Given the description of an element on the screen output the (x, y) to click on. 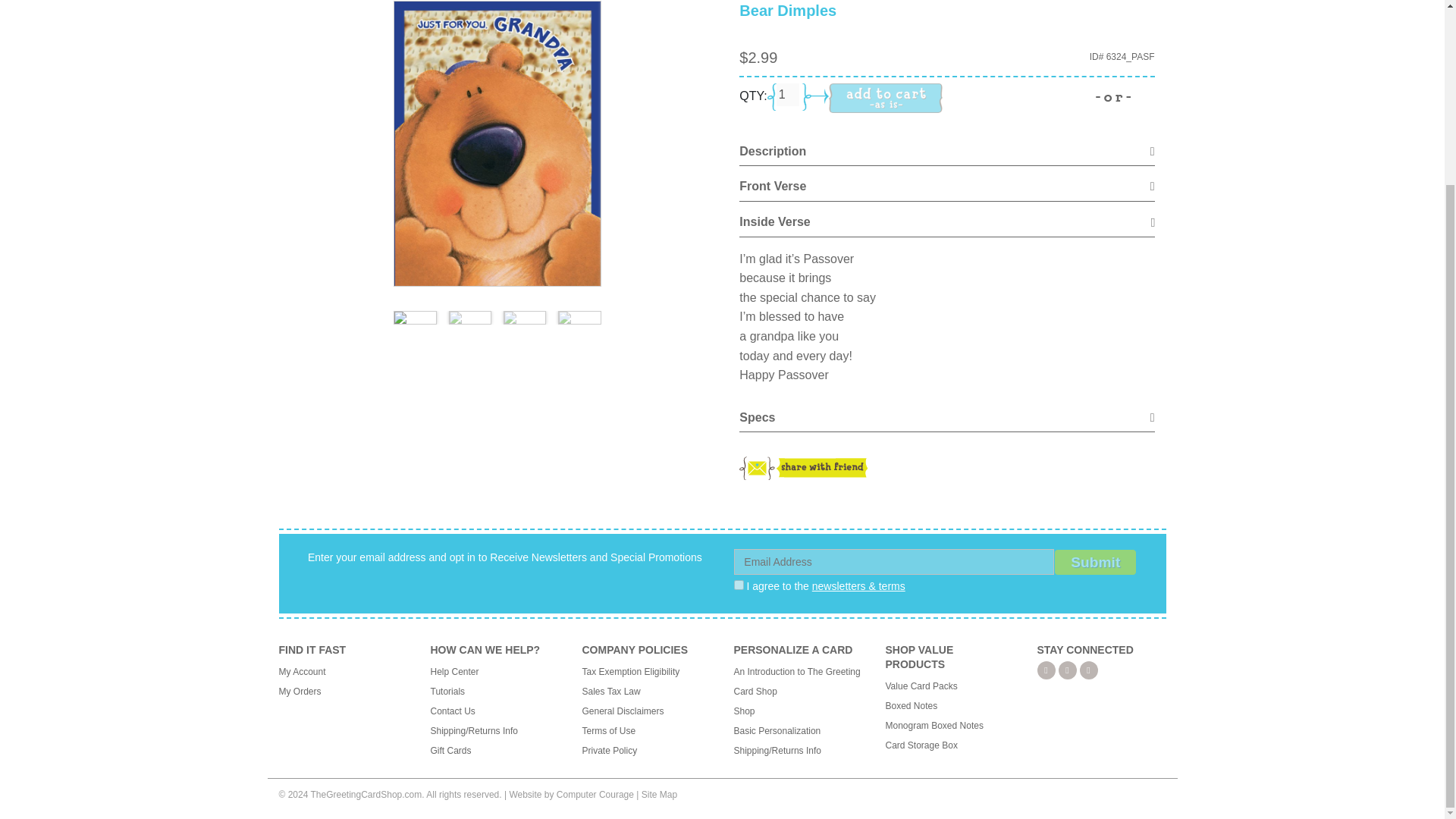
1 (787, 94)
1 (738, 584)
Submit (1095, 561)
